Given the description of an element on the screen output the (x, y) to click on. 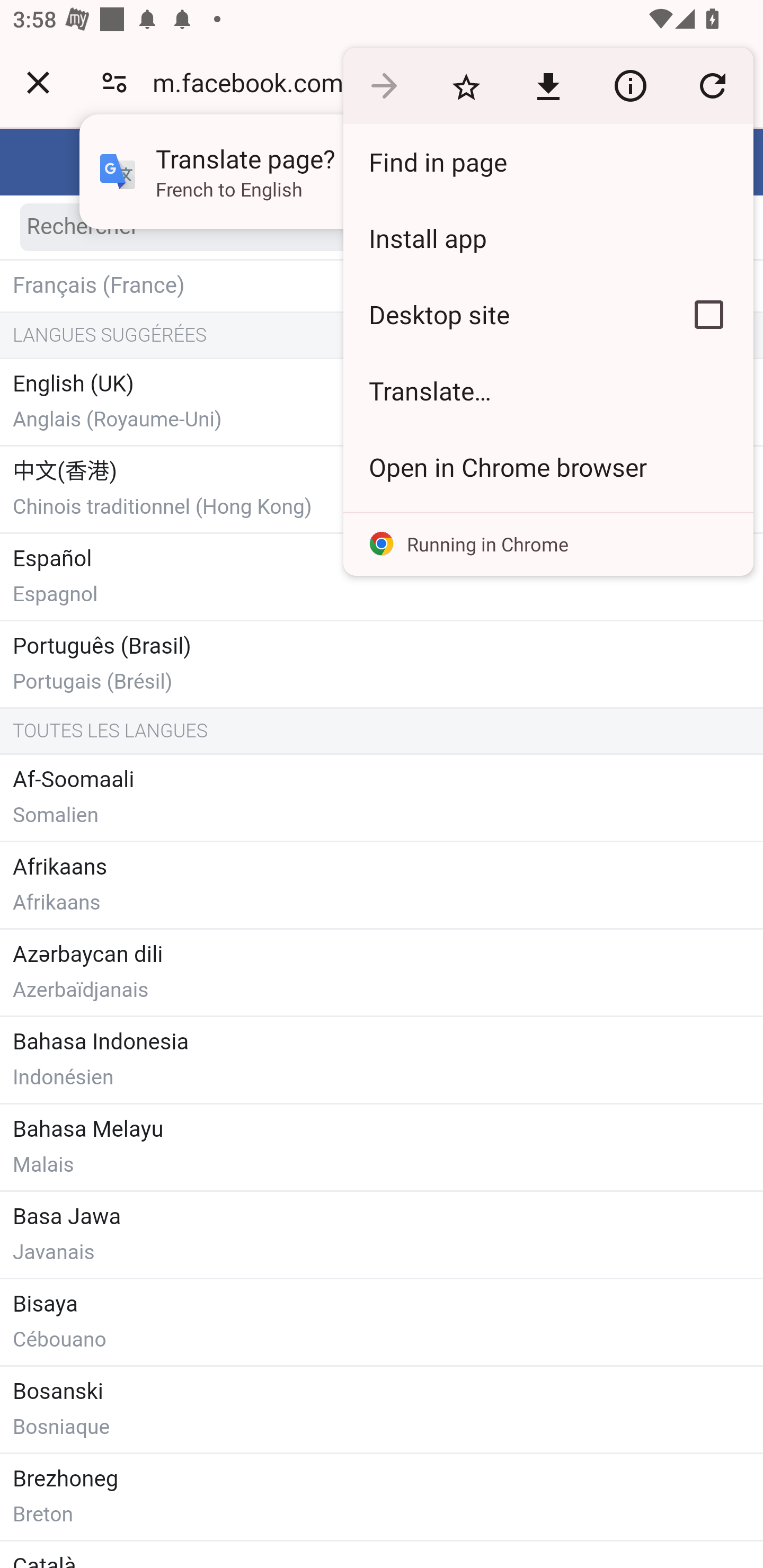
Go forward (383, 85)
Bookmark (465, 85)
Download this page (548, 85)
View site information (630, 85)
Refresh (712, 85)
Find in page (548, 161)
Install app (548, 237)
Desktop site Turn on Request desktop site (503, 313)
Translate… (548, 390)
Open in Chrome browser (548, 466)
